Given the description of an element on the screen output the (x, y) to click on. 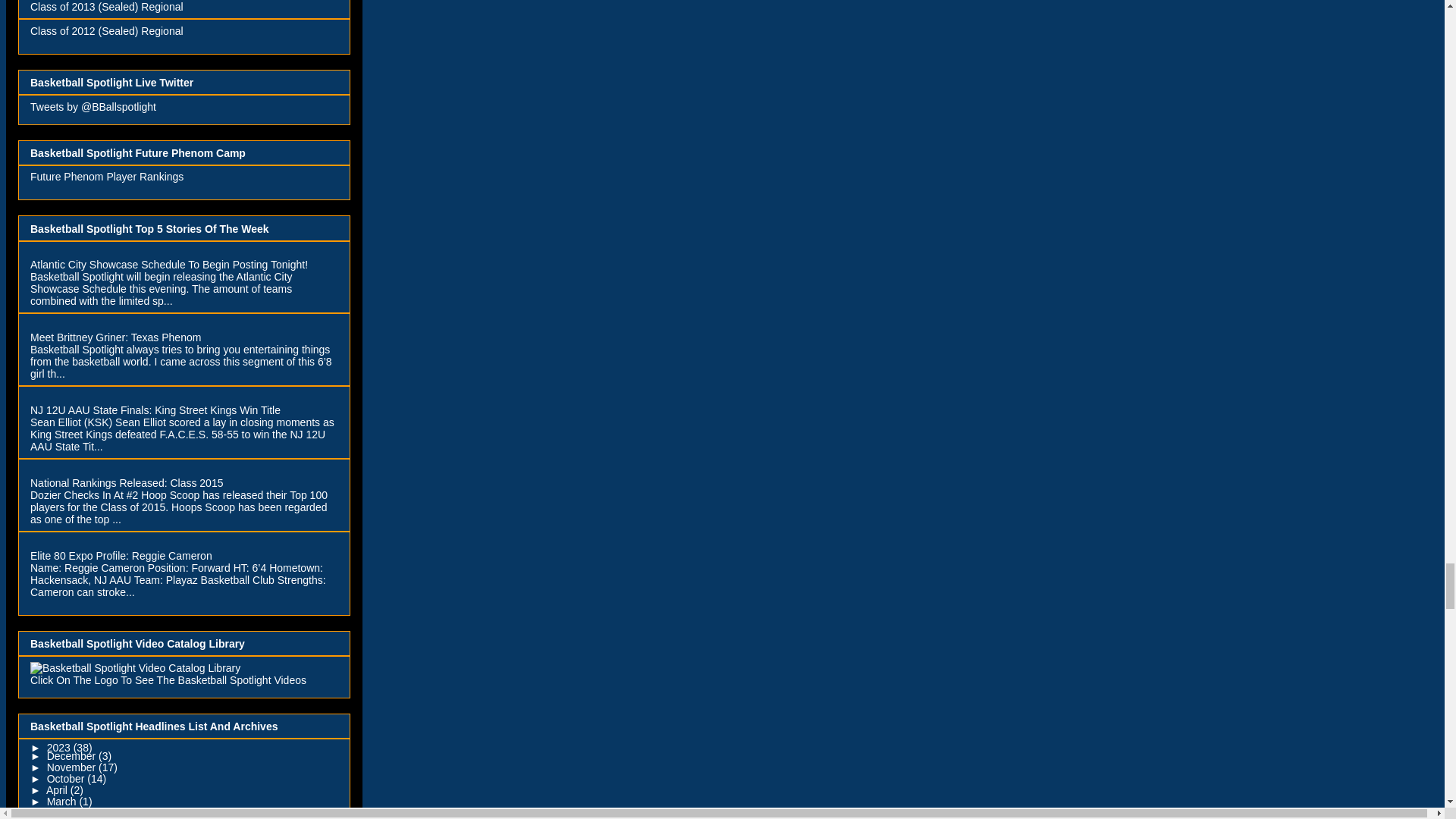
Atlantic City Showcase Schedule To Begin Posting Tonight! (168, 264)
National Rankings Released: Class 2015 (126, 482)
Meet Brittney Griner: Texas Phenom (115, 337)
Elite 80 Expo Profile: Reggie Cameron (121, 555)
NJ 12U AAU State Finals: King Street Kings Win Title (155, 410)
Future Phenom Player Rankings (106, 176)
